Given the description of an element on the screen output the (x, y) to click on. 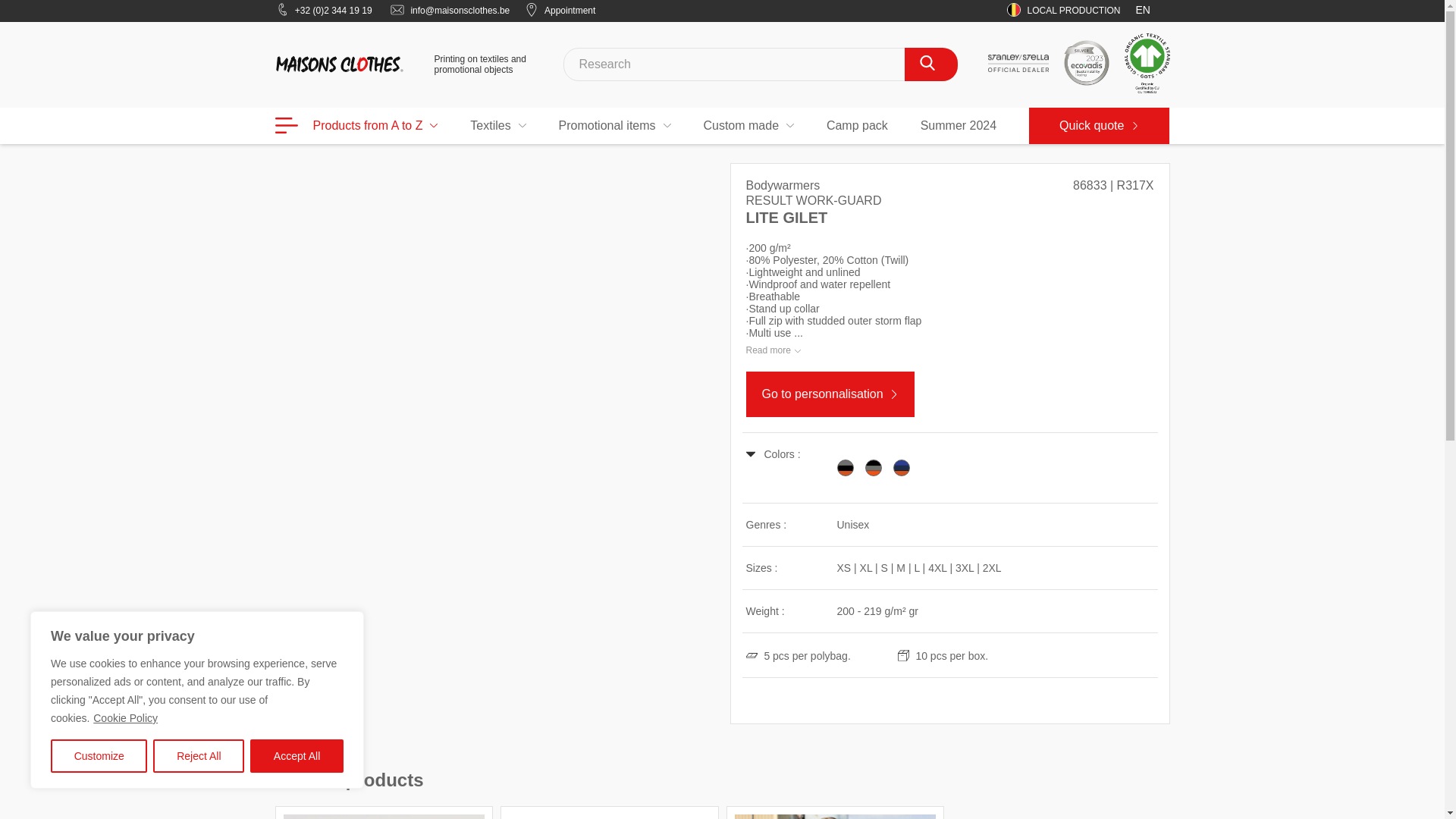
Camp pack (857, 125)
Camp pack (857, 125)
Textiles (497, 125)
Custom made (748, 125)
Promotional items (615, 125)
Reject All (198, 756)
Cookie Policy (125, 717)
Products from A to Z (356, 125)
Custom made (748, 125)
Summer 2024 (958, 125)
